Given the description of an element on the screen output the (x, y) to click on. 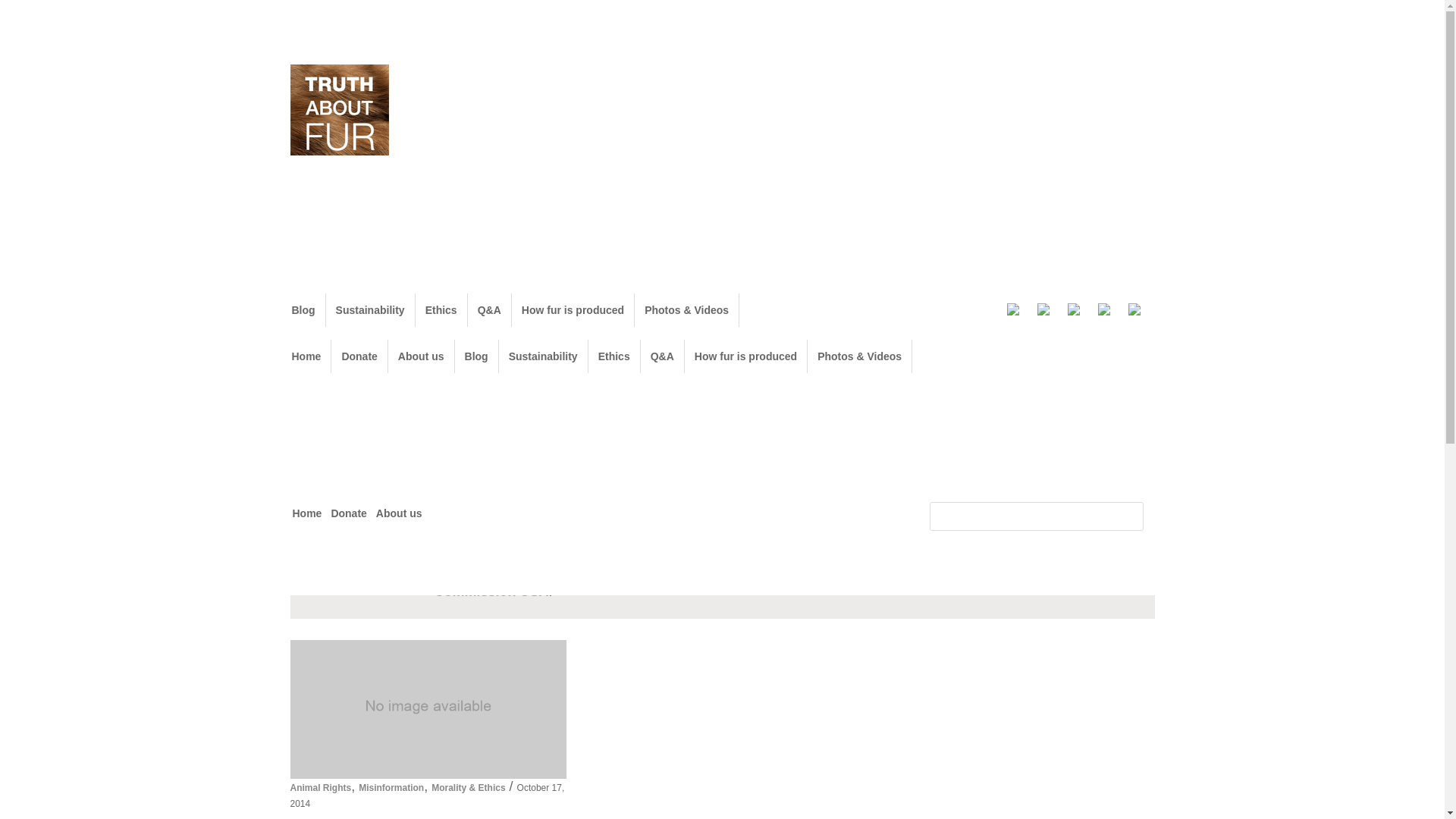
Home (306, 356)
Blog (476, 356)
How fur is produced (572, 309)
Home (306, 515)
Ethics (441, 309)
How fur is produced (745, 356)
Donate (358, 356)
Ethics (613, 356)
About us (398, 515)
truth-about-fur-logo (338, 113)
